Given the description of an element on the screen output the (x, y) to click on. 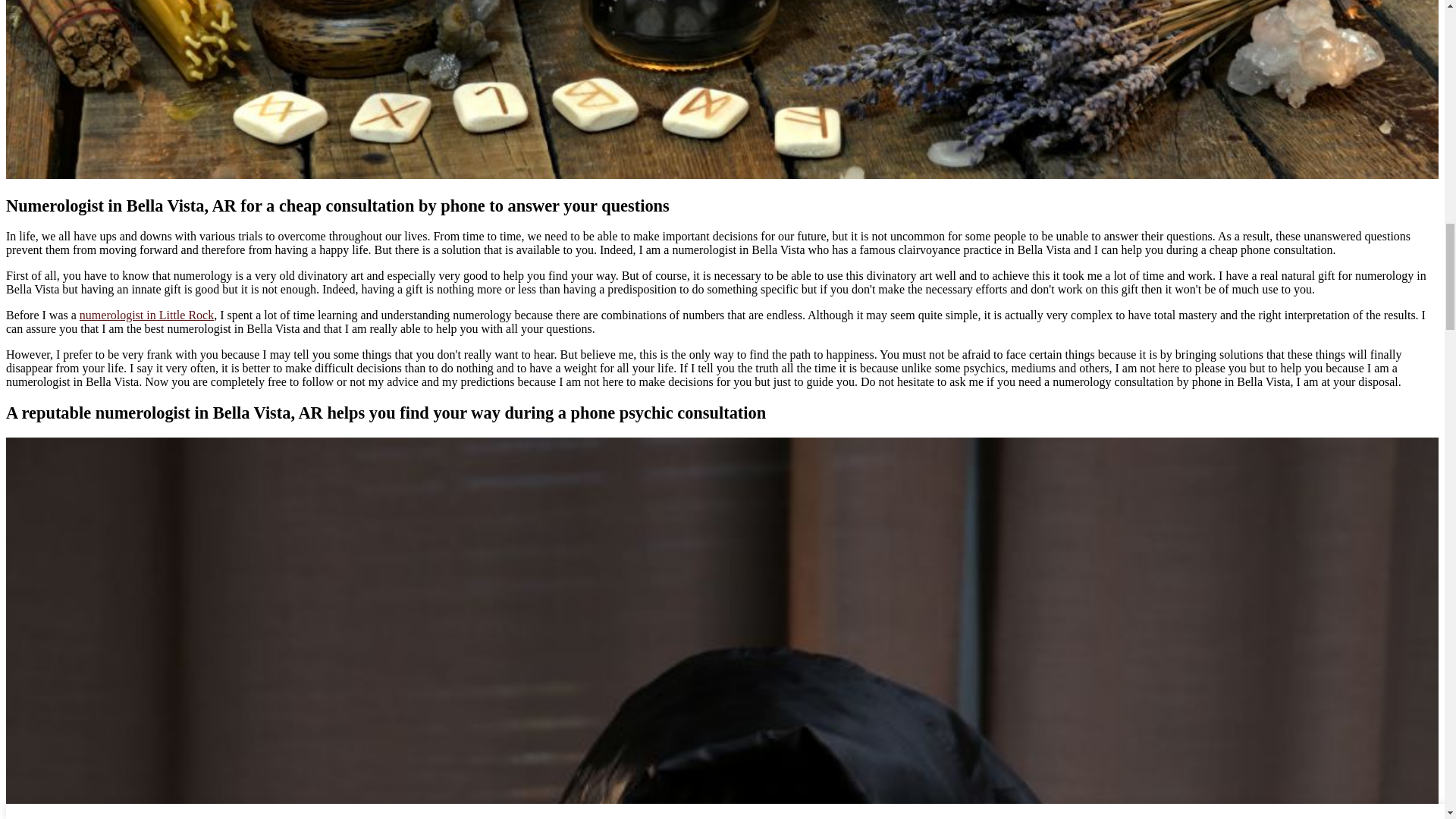
numerologist in Little Rock (147, 314)
